Given the description of an element on the screen output the (x, y) to click on. 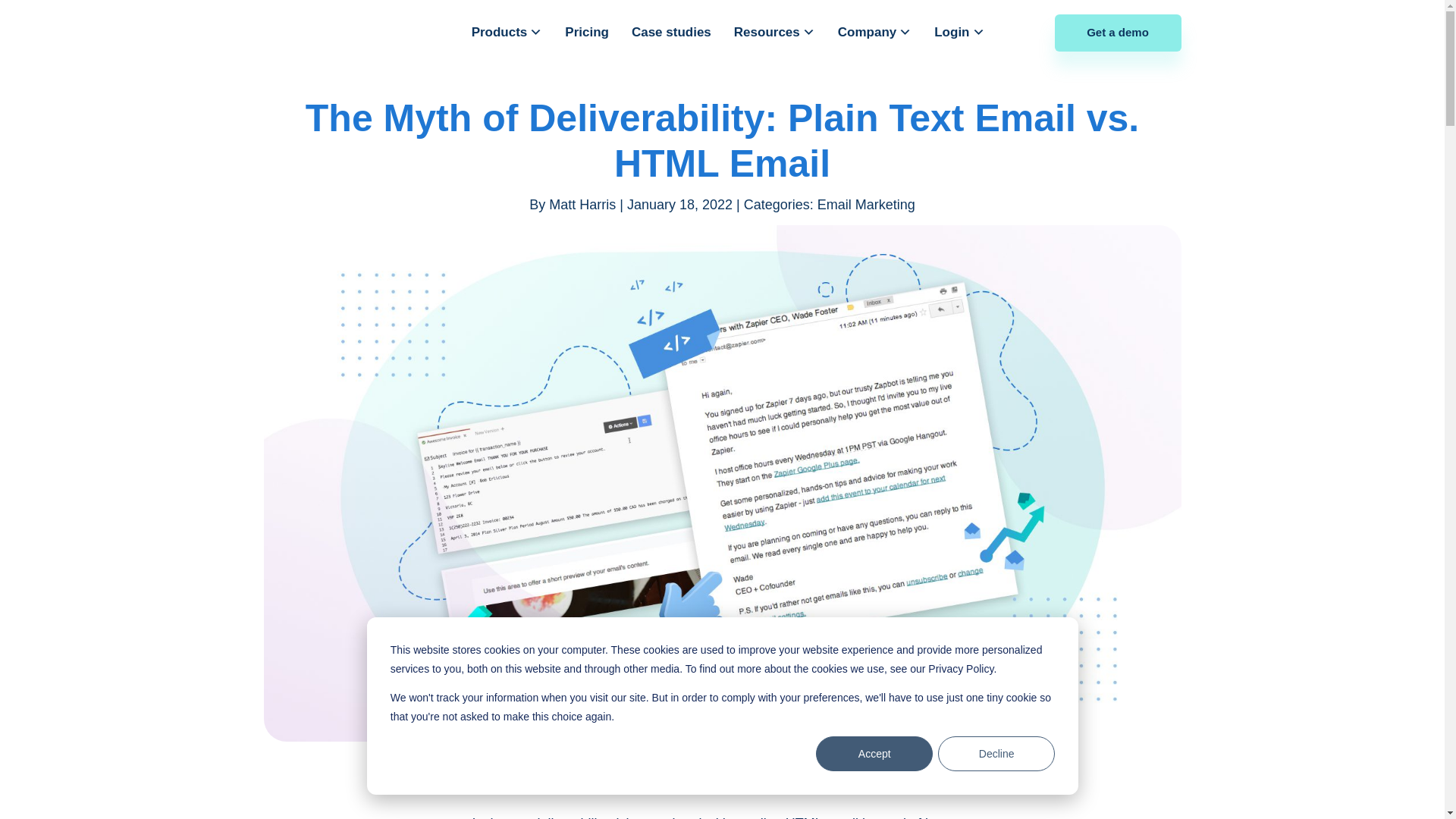
Case studies (671, 32)
Matt Harris (581, 204)
Resources (774, 32)
Dyspatch (346, 32)
Products (507, 32)
Company (874, 32)
